Given the description of an element on the screen output the (x, y) to click on. 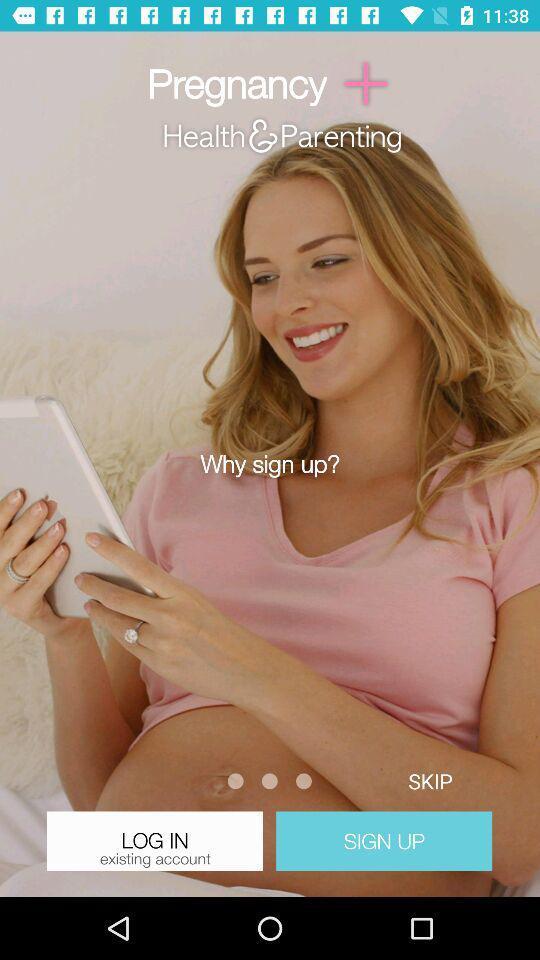
flip to the skip (430, 780)
